Given the description of an element on the screen output the (x, y) to click on. 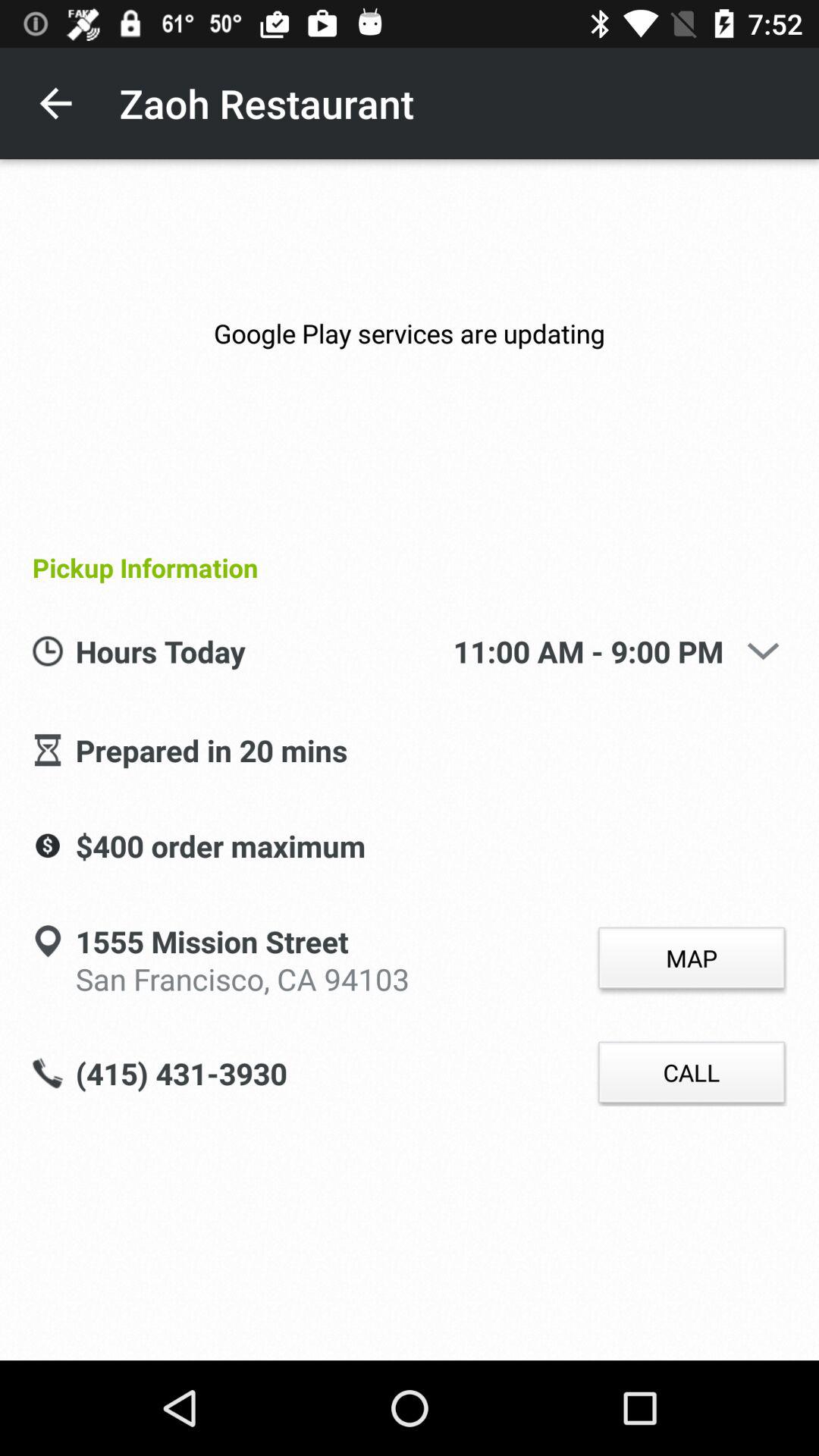
click app to the left of the zaoh restaurant app (55, 103)
